Given the description of an element on the screen output the (x, y) to click on. 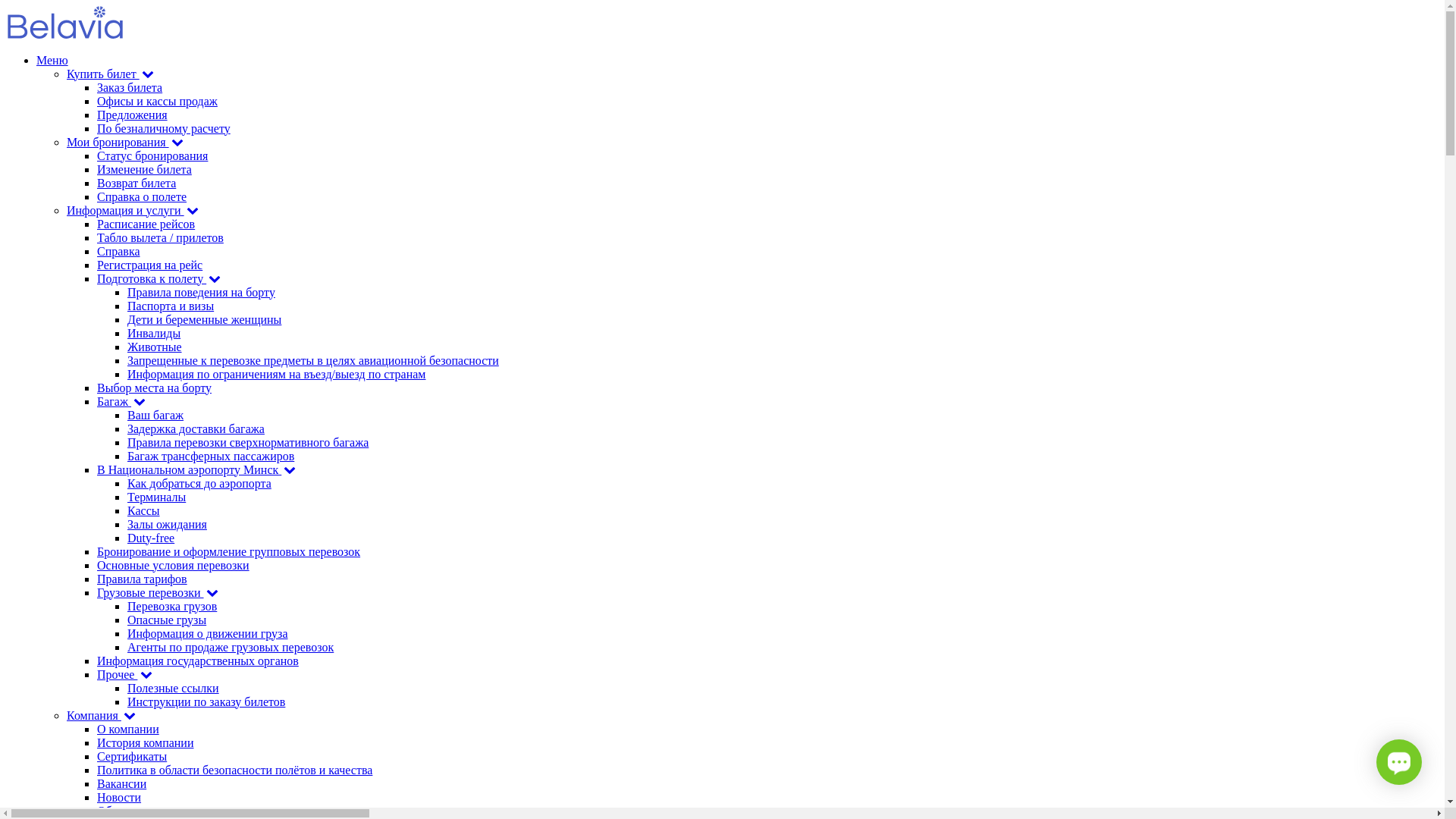
Duty-free Element type: text (150, 536)
